Given the description of an element on the screen output the (x, y) to click on. 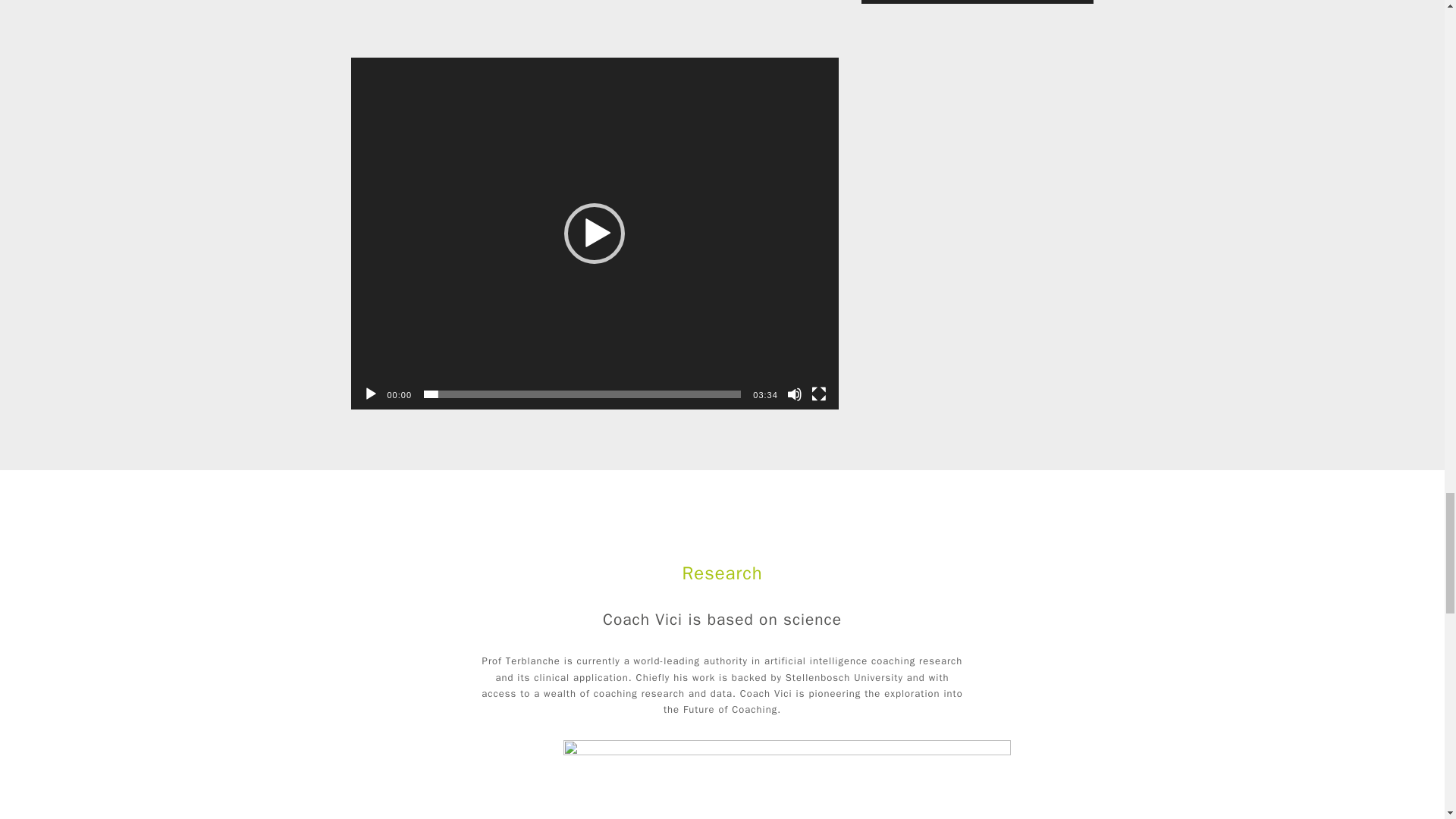
Fullscreen (818, 394)
Play (369, 394)
Mute (794, 394)
